Given the description of an element on the screen output the (x, y) to click on. 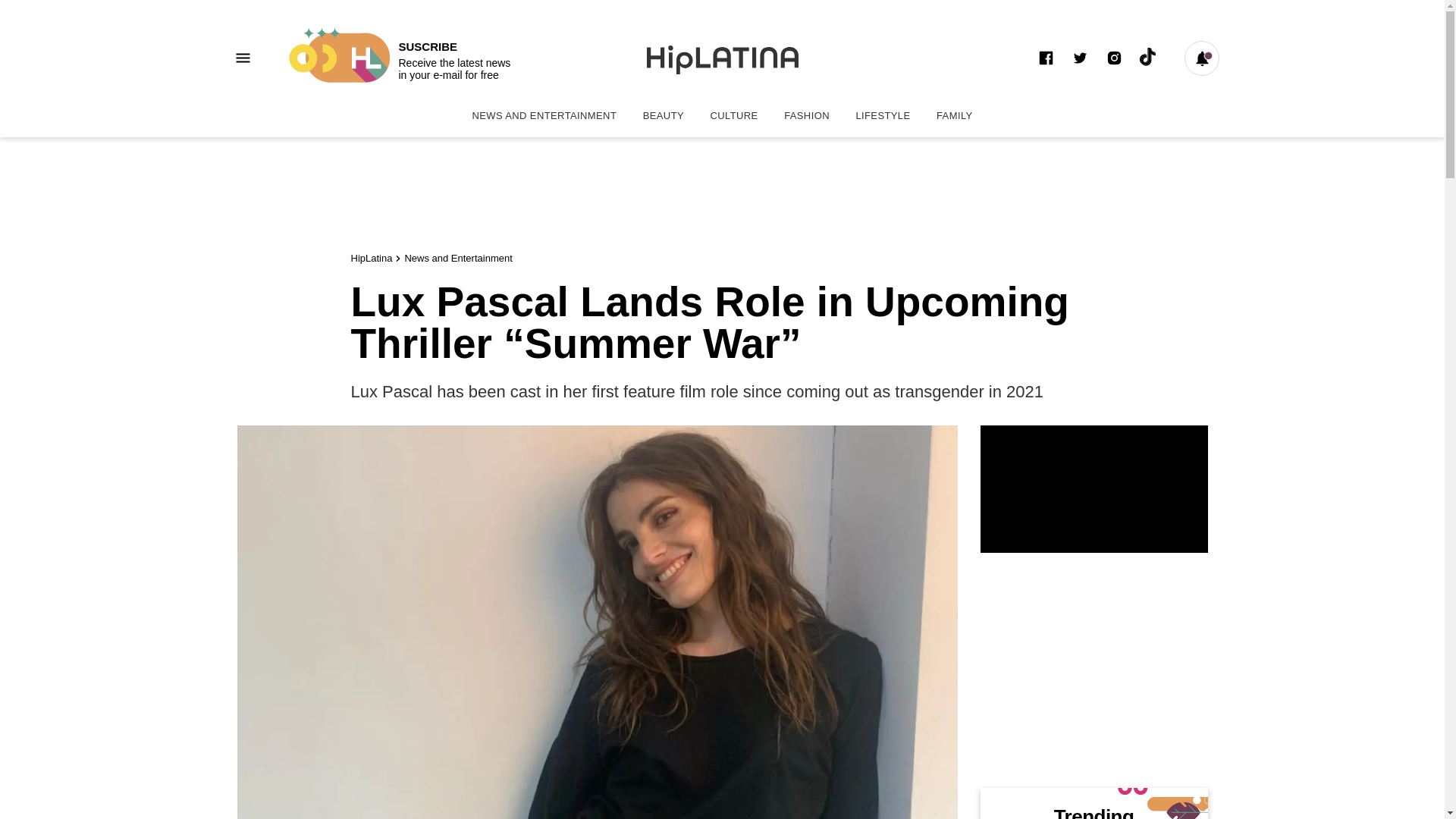
Follow HipLatina on Facebook (1044, 57)
BEAUTY (663, 115)
HipLatina (370, 258)
FAMILY (954, 115)
Follow HipLatina on twitter (1079, 57)
FASHION (397, 57)
Fashion (807, 115)
Family (807, 115)
NEWS AND ENTERTAINMENT (954, 115)
